Given the description of an element on the screen output the (x, y) to click on. 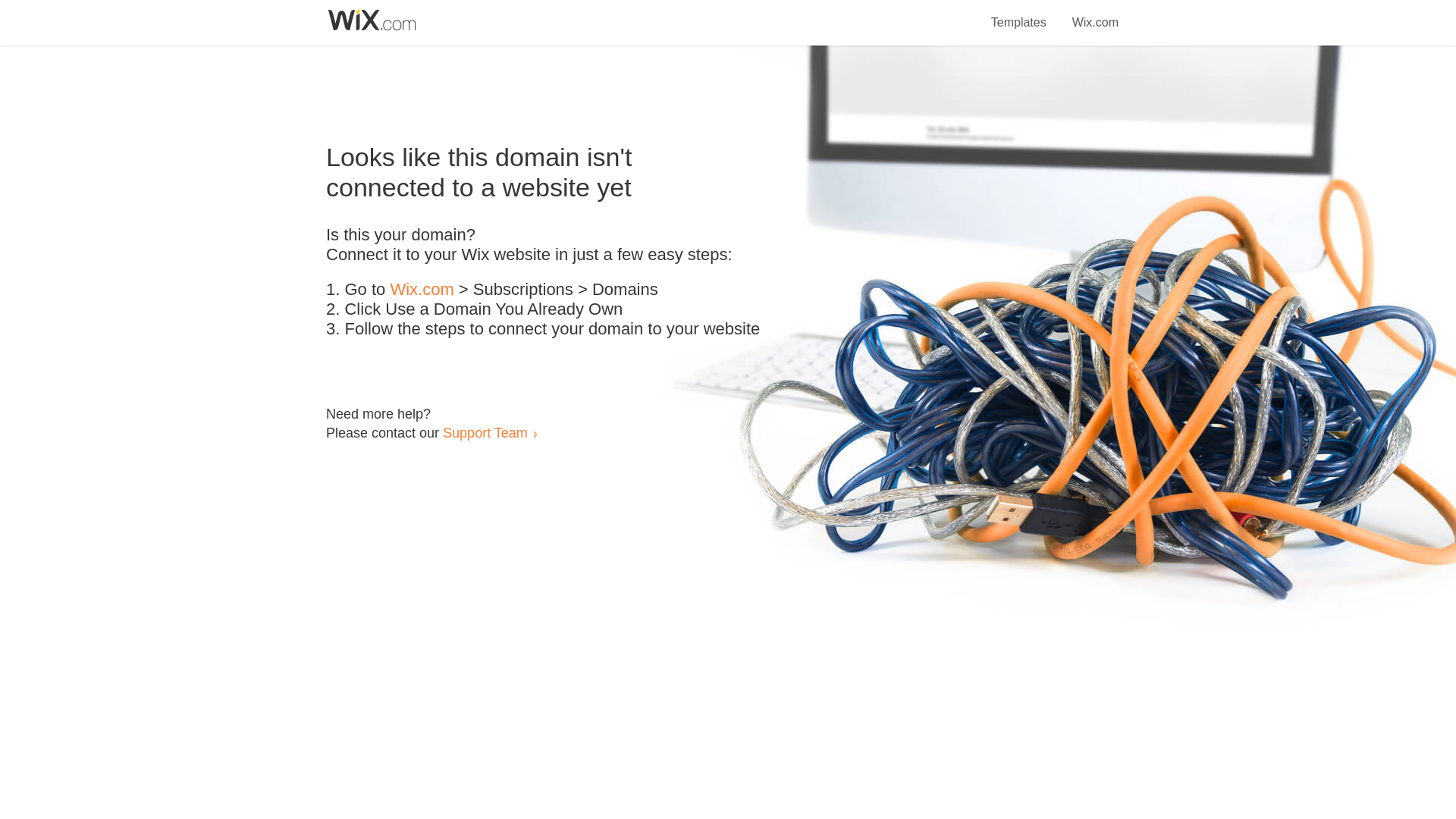
Support Team (484, 432)
Wix.com (1095, 14)
Templates (1018, 14)
Wix.com (421, 289)
